Given the description of an element on the screen output the (x, y) to click on. 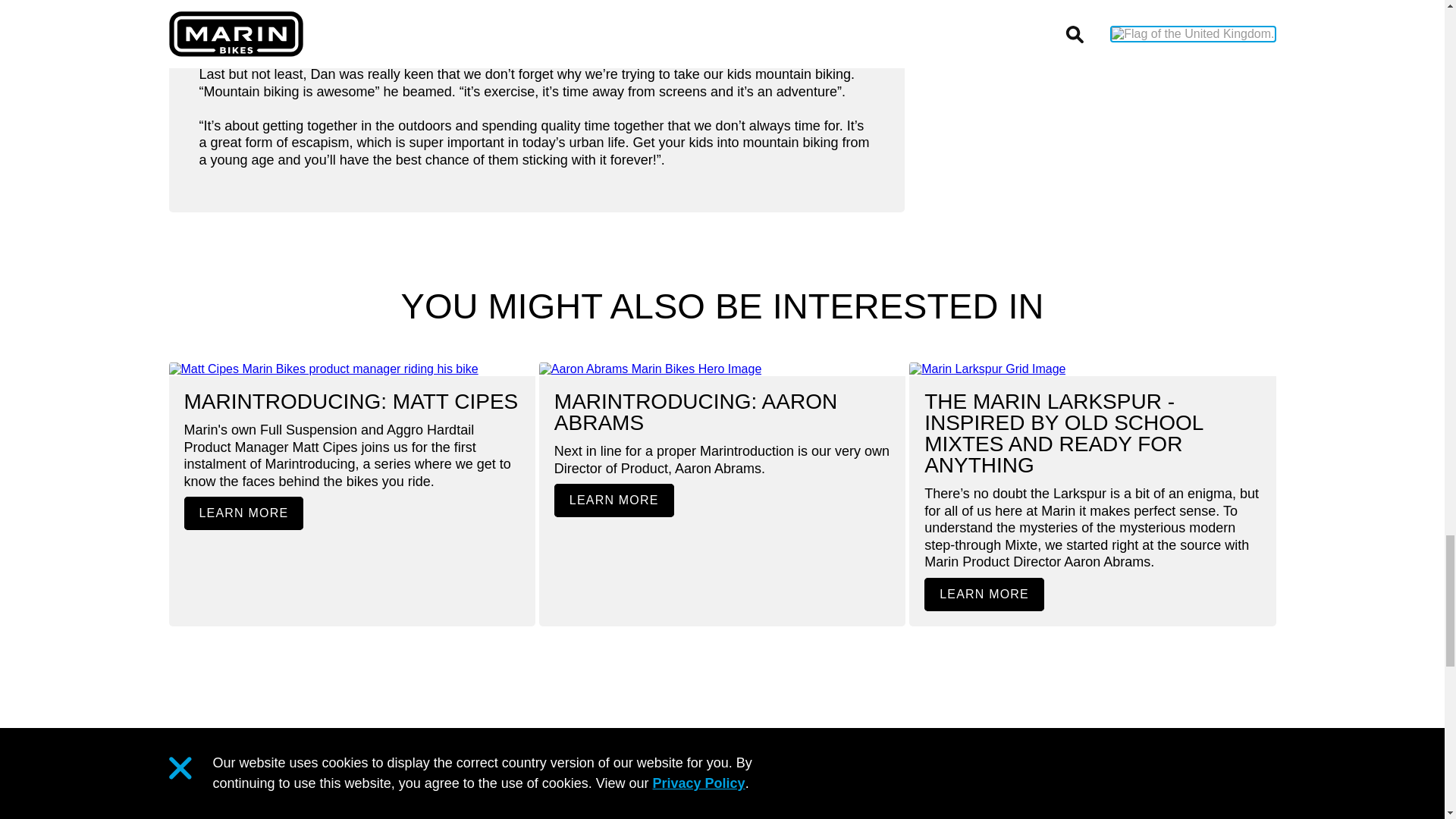
MARINTRODUCING: MATT CIPES (350, 401)
LEARN MORE (614, 500)
MARINTRODUCING: AARON ABRAMS (695, 411)
LEARN MORE (242, 512)
LEARN MORE (983, 594)
